Given the description of an element on the screen output the (x, y) to click on. 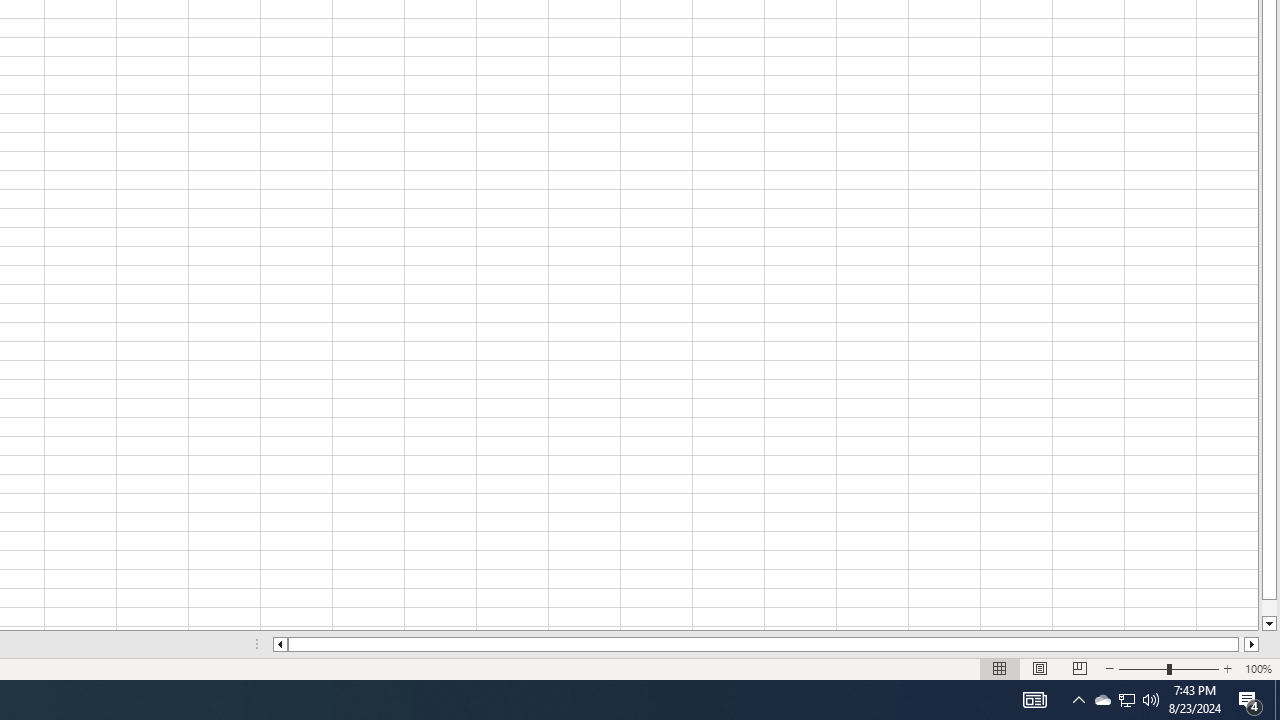
Column left (279, 644)
Page Break Preview (1079, 668)
Class: NetUIScrollBar (765, 644)
Zoom Out (1142, 668)
Page right (1241, 644)
Zoom In (1227, 668)
Zoom (1168, 668)
Column right (1252, 644)
Normal (1000, 668)
Line down (1268, 624)
Page down (1268, 607)
